Given the description of an element on the screen output the (x, y) to click on. 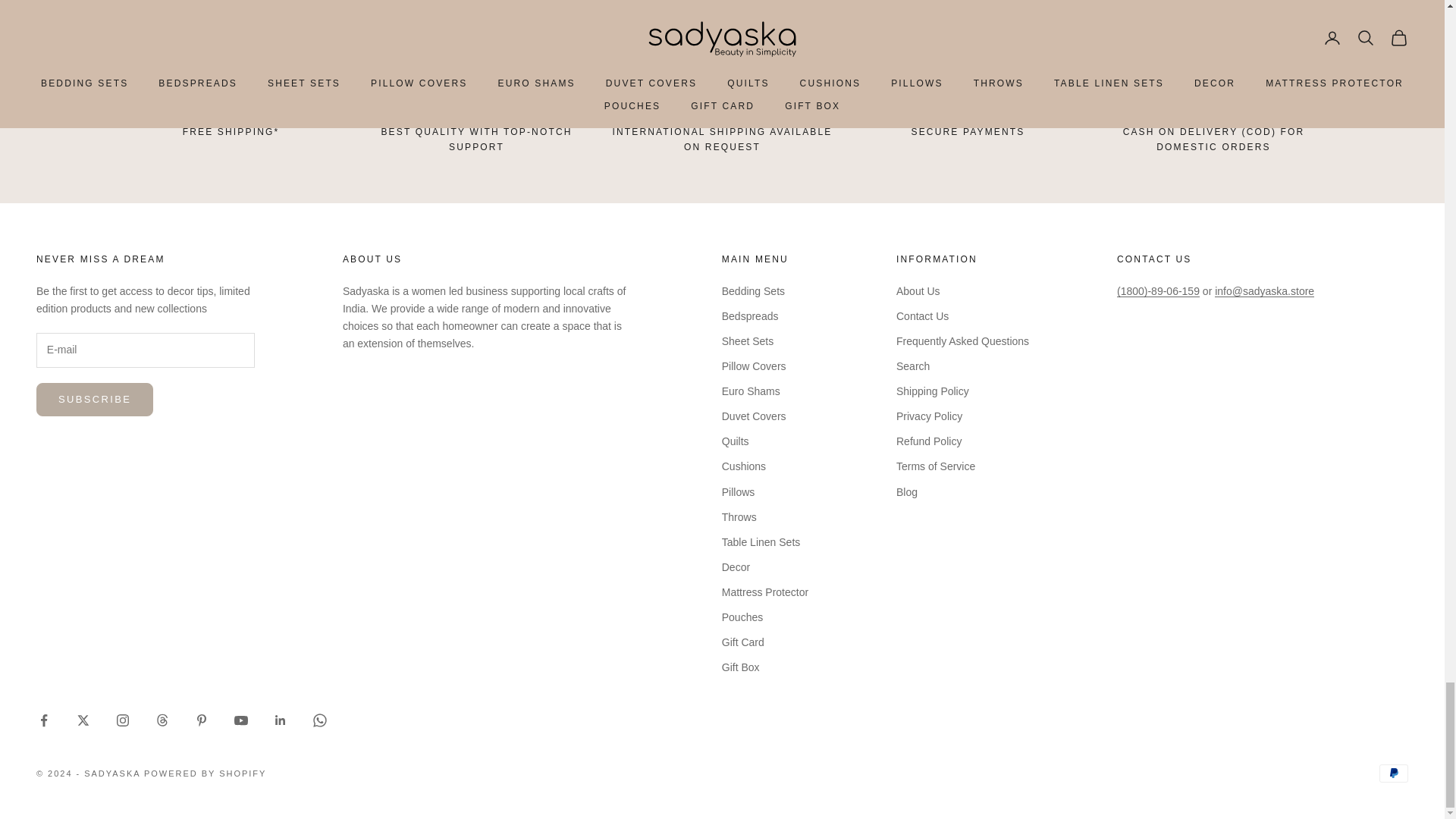
About us (371, 258)
Contact Us (1154, 258)
